Given the description of an element on the screen output the (x, y) to click on. 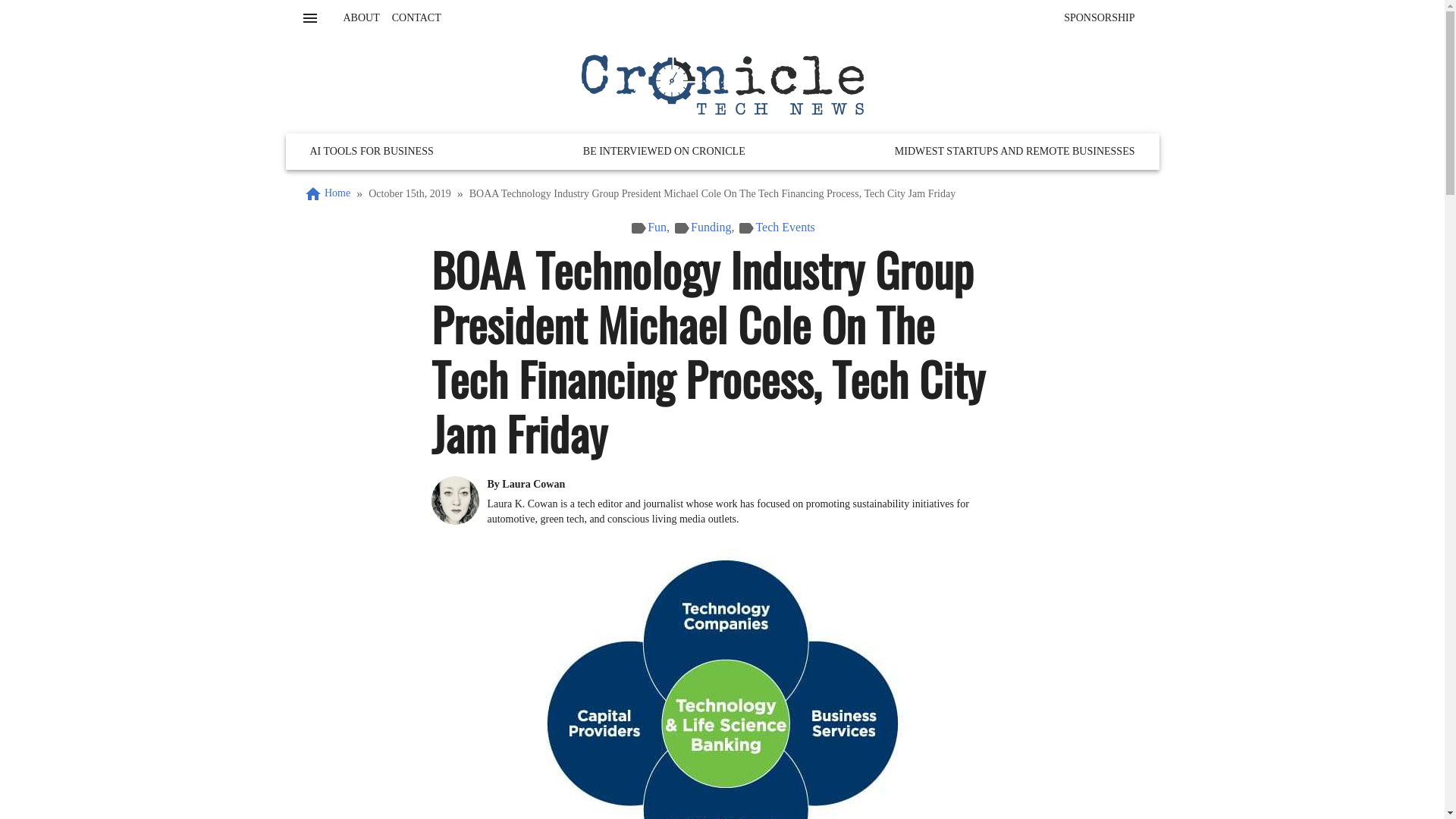
MIDWEST STARTUPS AND REMOTE BUSINESSES (1014, 151)
Tech Events (784, 226)
CONTACT (721, 18)
BE INTERVIEWED ON CRONICLE (663, 151)
ABOUT (360, 18)
Fun (656, 226)
Home (326, 194)
Funding (710, 226)
SPONSORSHIP (1099, 18)
AI TOOLS FOR BUSINESS (370, 151)
